Given the description of an element on the screen output the (x, y) to click on. 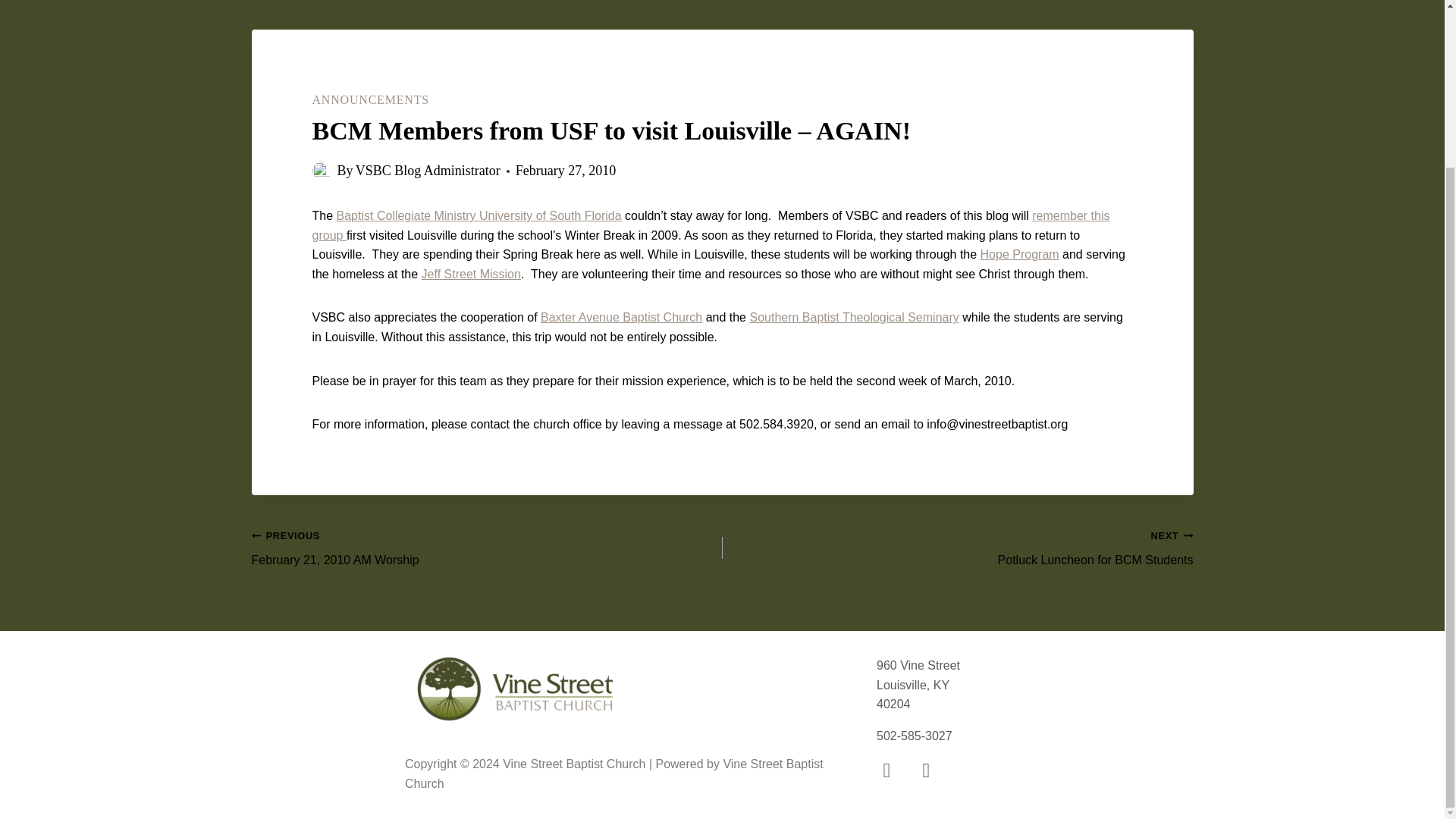
VSBC Blog Administrator (427, 170)
remember this group (711, 225)
Baptist Collegiate Ministry University of South Florida (478, 215)
Baxter Avenue Baptist Church (957, 547)
Hope Program (620, 317)
ANNOUNCEMENTS (486, 547)
Jeff Street Mission (1019, 254)
Southern Baptist Theological Seminary (371, 99)
